Given the description of an element on the screen output the (x, y) to click on. 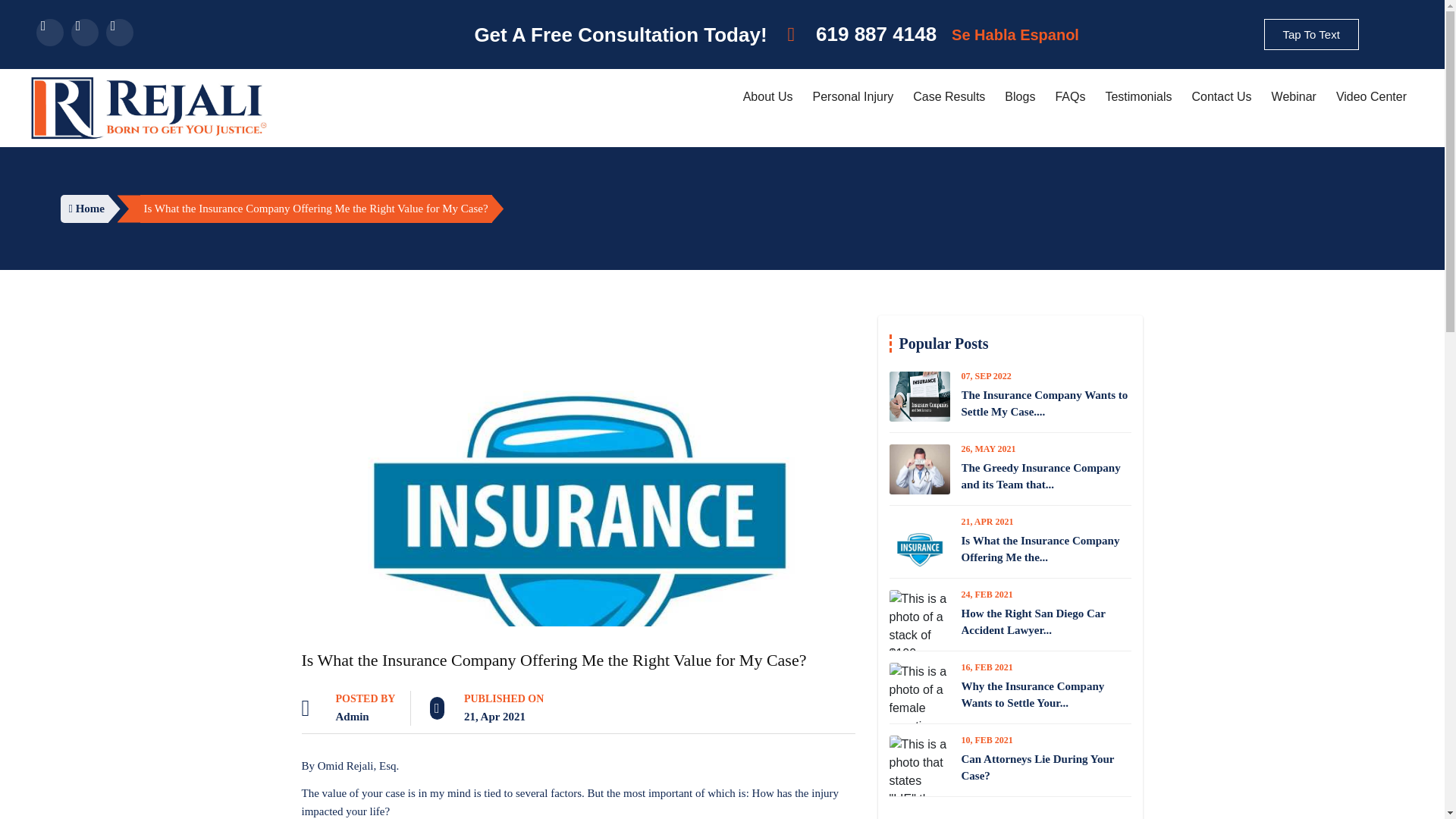
Blogs (1019, 96)
619 887 4148 (862, 34)
About Us (767, 96)
Testimonials (1138, 96)
Video Center (1370, 96)
Case Results (948, 96)
Admin (351, 716)
Webinar (1293, 96)
Tap To Text (1310, 33)
Contact Us (1221, 96)
